Given the description of an element on the screen output the (x, y) to click on. 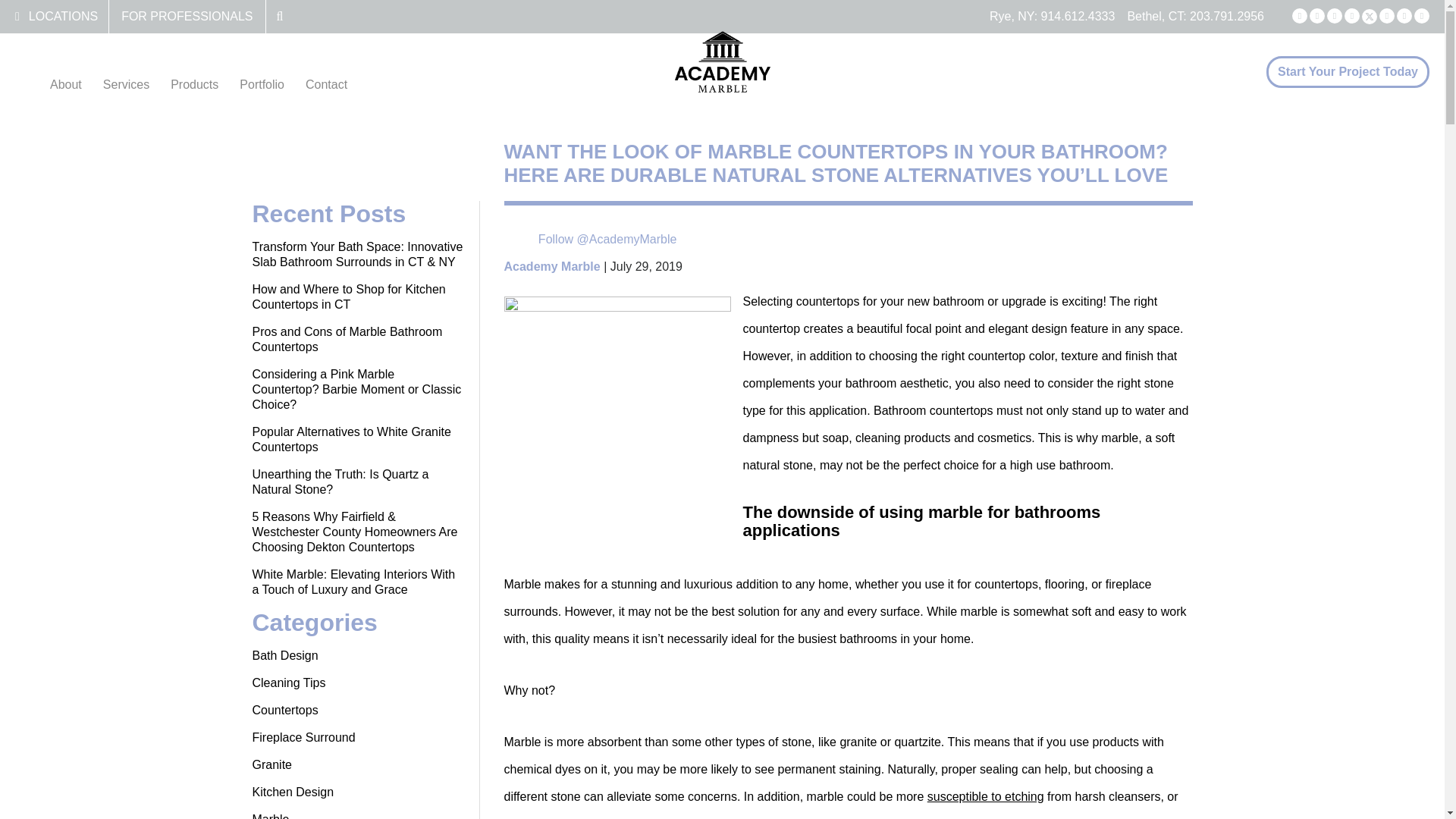
914.612.4333 (1078, 15)
FOR PROFESSIONALS (185, 15)
203.791.2956 (1226, 15)
LOCATIONS (63, 15)
